Given the description of an element on the screen output the (x, y) to click on. 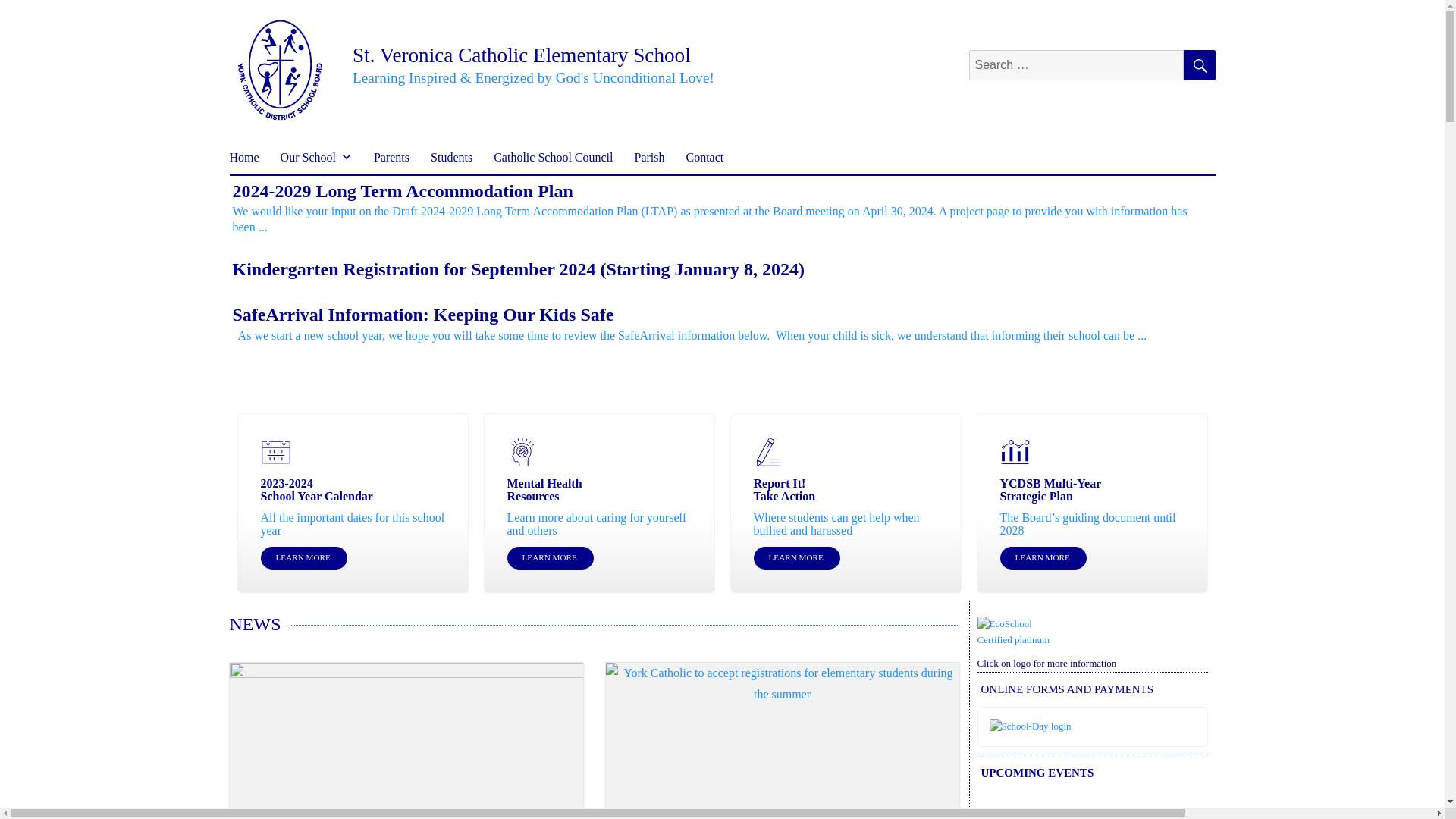
Catholic School Council (553, 156)
Parish (649, 156)
St. Veronica Catholic Elementary School (521, 55)
Parents (391, 156)
Home (243, 156)
Students (451, 156)
SEARCH (1198, 64)
Our School (315, 156)
Contact (704, 156)
